Given the description of an element on the screen output the (x, y) to click on. 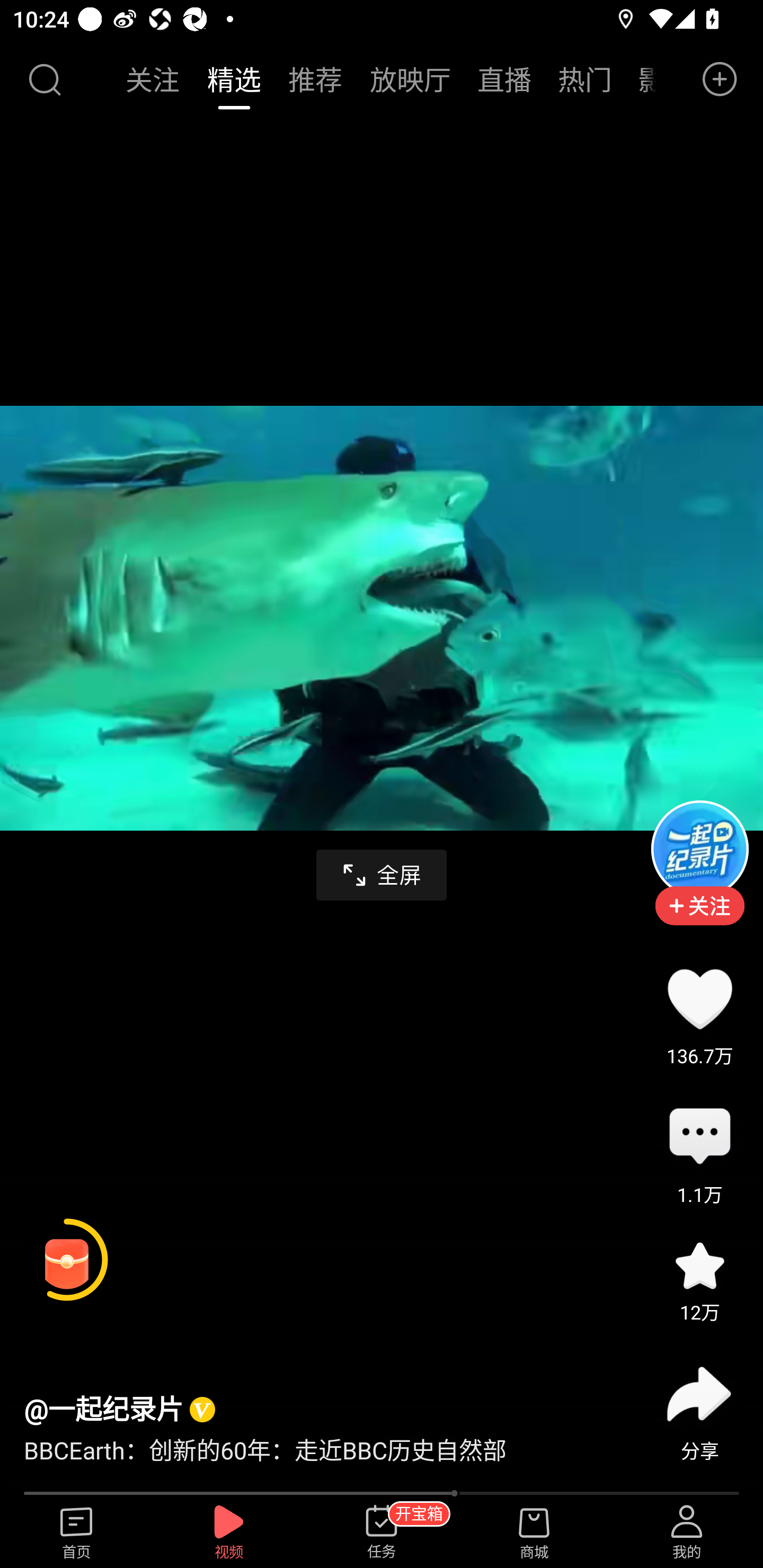
关注 (153, 79)
精选 (233, 79)
推荐 (315, 79)
放映厅 (409, 79)
直播 (504, 79)
热门 (584, 79)
搜索 (44, 79)
发布 (720, 79)
头像 (699, 848)
全屏播放 (381, 874)
加关注 (699, 918)
点赞1366679 136.7万 (699, 998)
评论11819 评论 1.1万 (699, 1137)
收藏 12万 (699, 1265)
阅读赚金币 (66, 1259)
分享 (699, 1393)
@一起纪录片 (103, 1409)
首页 (76, 1532)
视频 (228, 1532)
任务 开宝箱 (381, 1532)
商城 (533, 1532)
我的 (686, 1532)
